Given the description of an element on the screen output the (x, y) to click on. 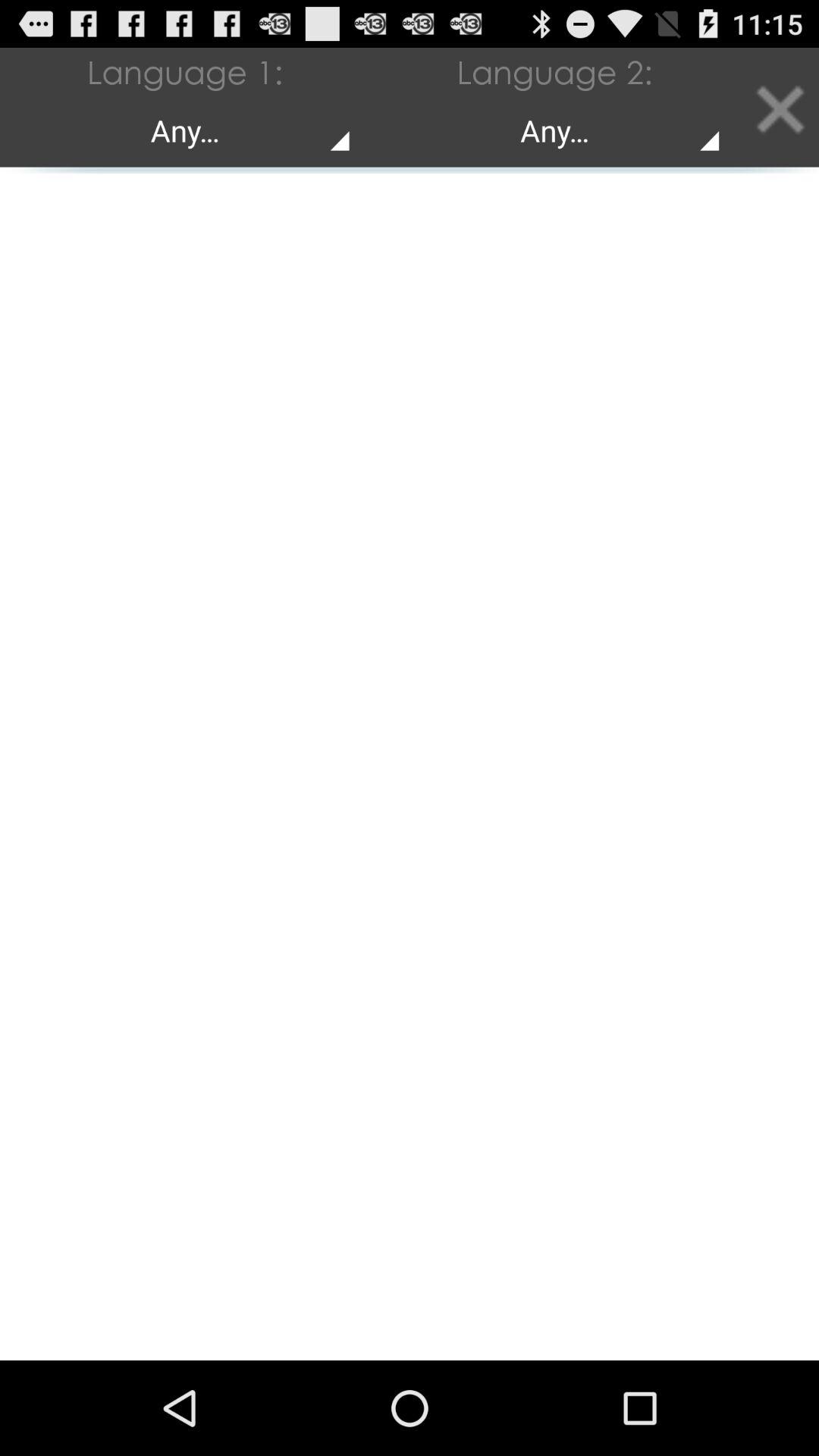
close translator (779, 107)
